Given the description of an element on the screen output the (x, y) to click on. 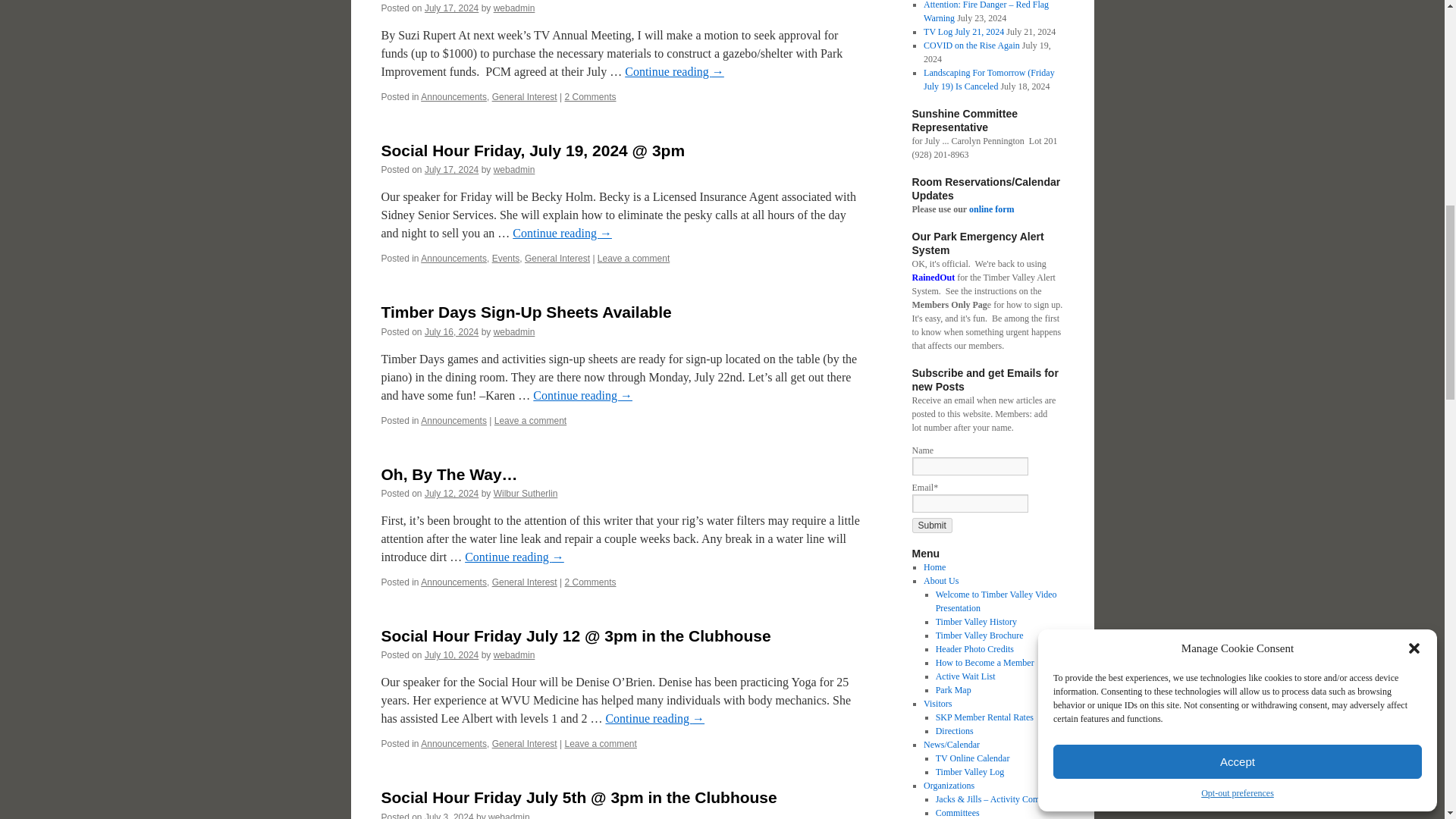
Submit (931, 525)
View all posts by webadmin (514, 169)
3:00 AM (452, 169)
11:59 AM (452, 655)
7:07 PM (452, 331)
11:00 AM (452, 8)
View all posts by webadmin (514, 8)
8:07 AM (452, 493)
View all posts by webadmin (514, 331)
View all posts by Wilbur Sutherlin (525, 493)
